Given the description of an element on the screen output the (x, y) to click on. 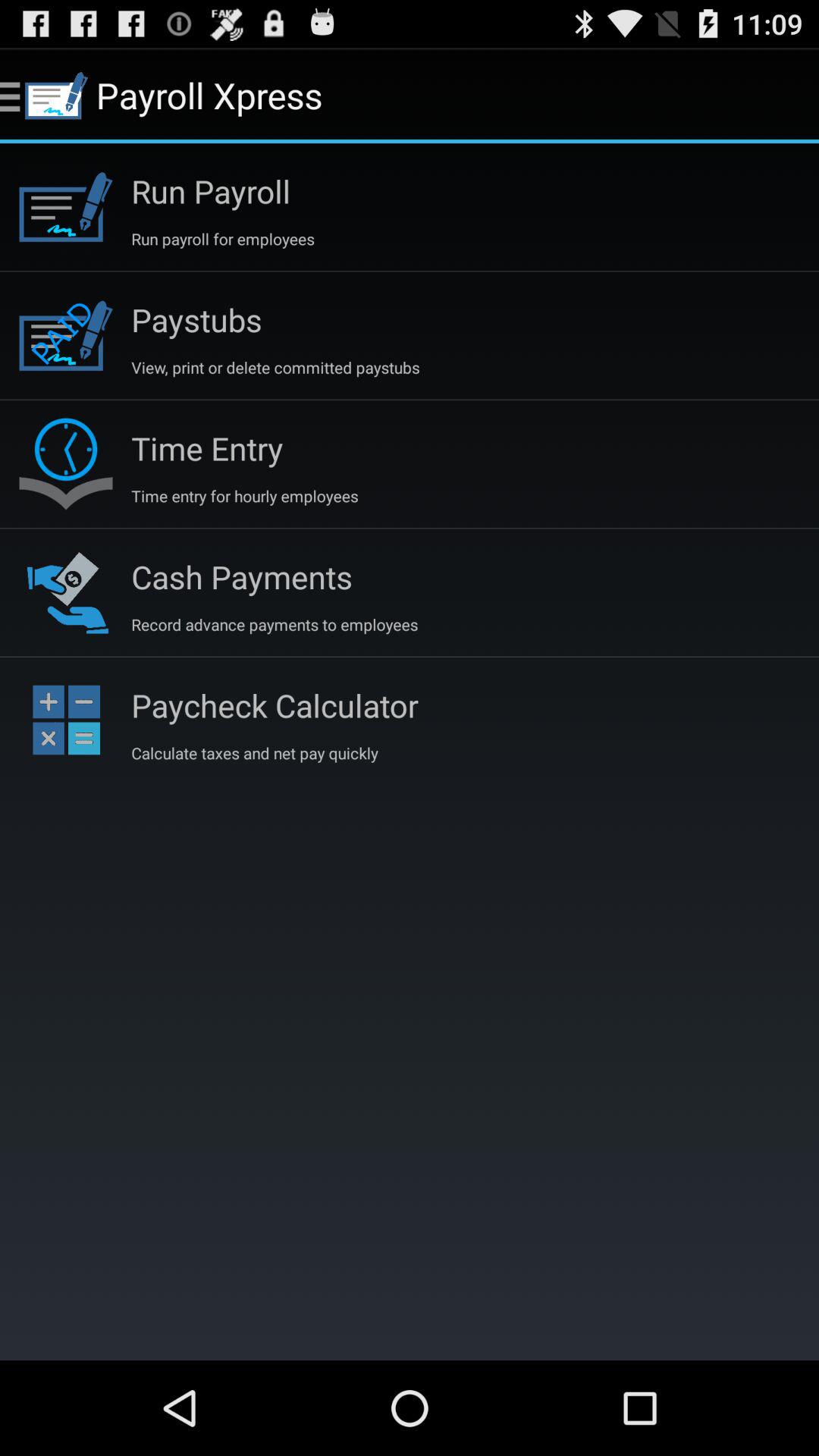
launch the item below record advance payments item (274, 705)
